Given the description of an element on the screen output the (x, y) to click on. 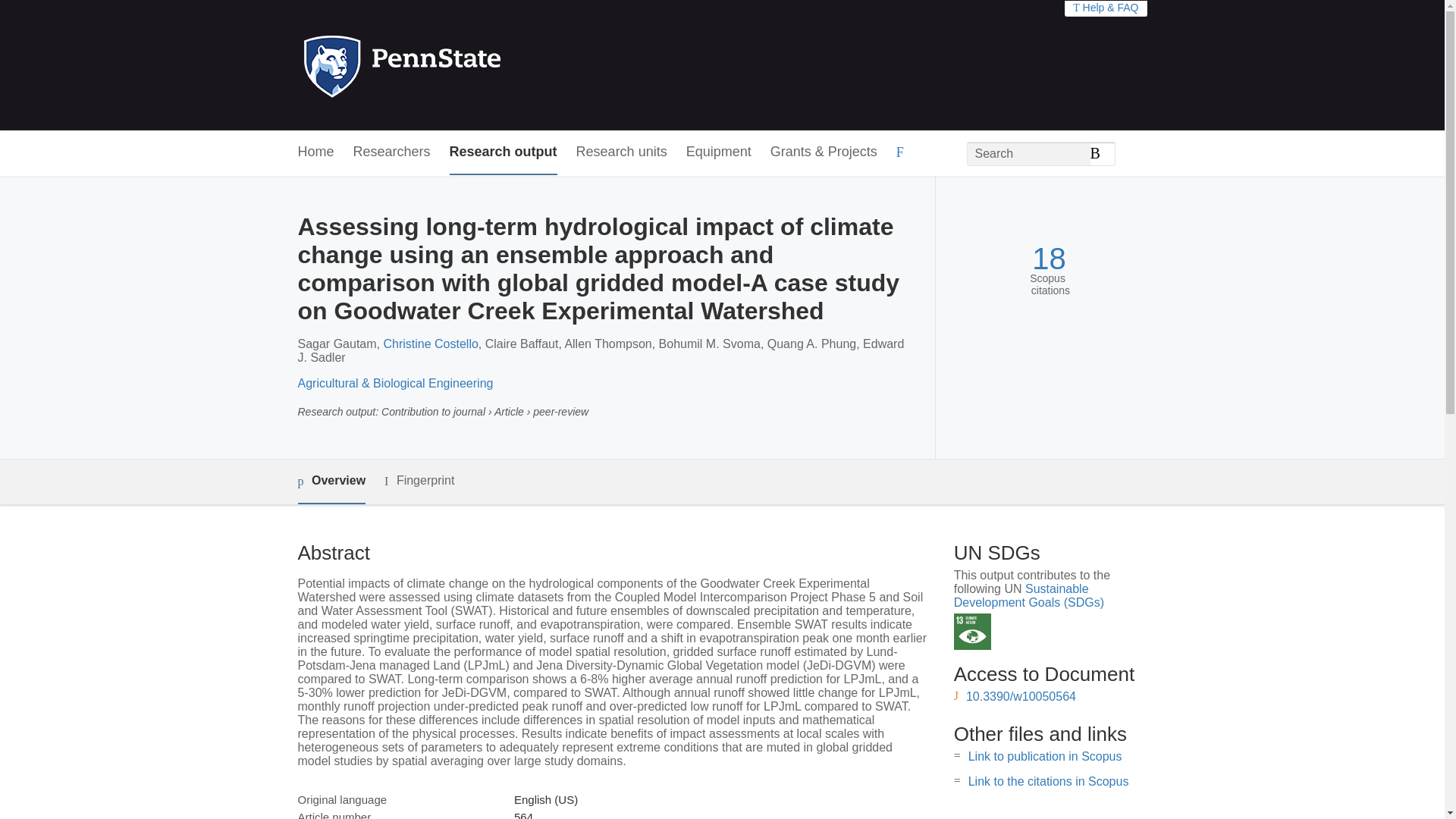
Christine Costello (429, 343)
Research units (621, 152)
18 (1048, 258)
Equipment (718, 152)
Penn State Home (467, 65)
Link to the citations in Scopus (1048, 780)
Researchers (391, 152)
Research output (503, 152)
Fingerprint (419, 480)
Overview (331, 481)
Home (315, 152)
Link to publication in Scopus (1045, 756)
SDG 13 - Climate Action (972, 631)
